Given the description of an element on the screen output the (x, y) to click on. 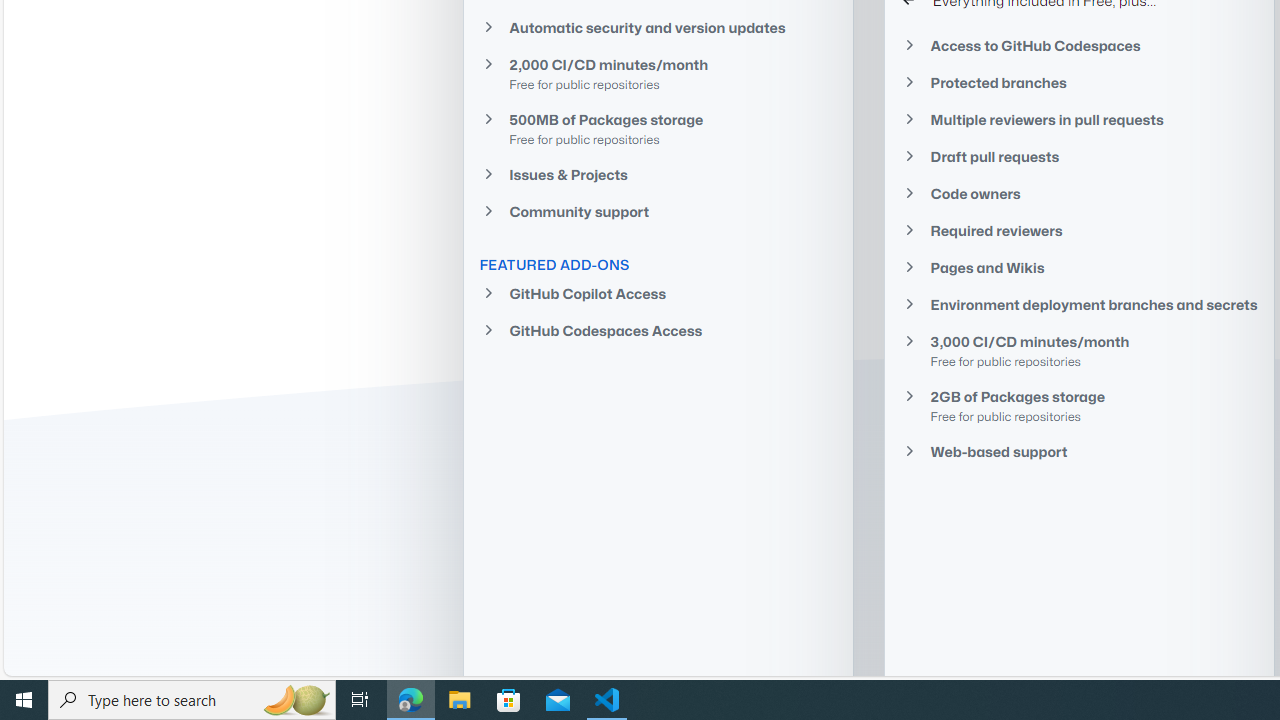
Draft pull requests (1079, 155)
Protected branches (1079, 83)
500MB of Packages storage Free for public repositories (657, 128)
3,000 CI/CD minutes/month Free for public repositories (1079, 350)
Draft pull requests (1079, 156)
GitHub Copilot Access (657, 294)
Code owners (1079, 193)
GitHub Copilot Access (657, 293)
500MB of Packages storageFree for public repositories (657, 128)
Access to GitHub Codespaces (1079, 44)
Multiple reviewers in pull requests (1079, 119)
Automatic security and version updates (657, 27)
2GB of Packages storage Free for public repositories (1079, 406)
3,000 CI/CD minutes/monthFree for public repositories (1079, 349)
GitHub Codespaces Access (657, 330)
